Given the description of an element on the screen output the (x, y) to click on. 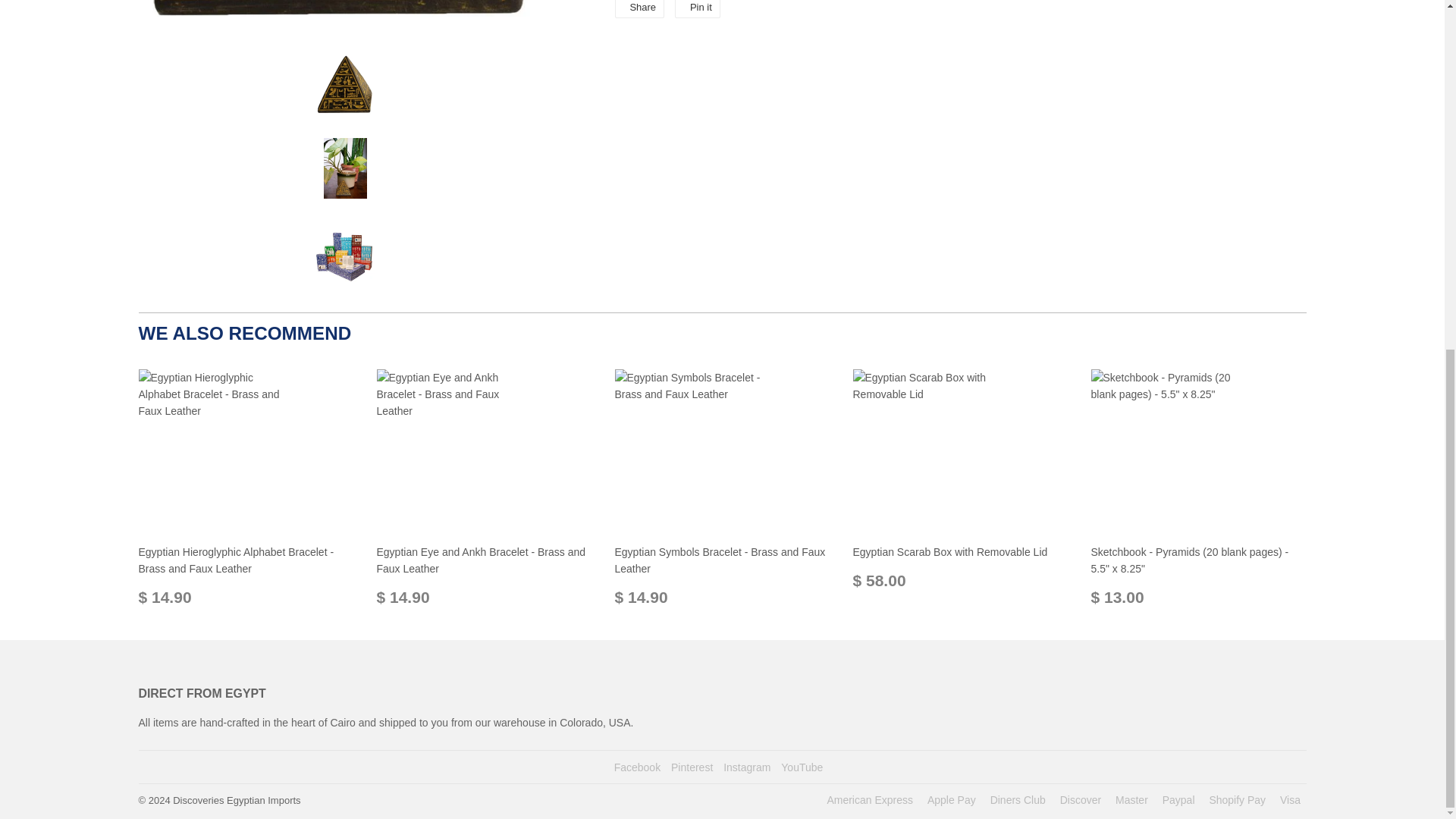
Discoveries Egyptian Imports on Pinterest (692, 767)
Pin on Pinterest (697, 9)
Discoveries Egyptian Imports on Facebook (637, 767)
Discoveries Egyptian Imports on Instagram (746, 767)
Discoveries Egyptian Imports on YouTube (801, 767)
Share on Facebook (638, 9)
